Given the description of an element on the screen output the (x, y) to click on. 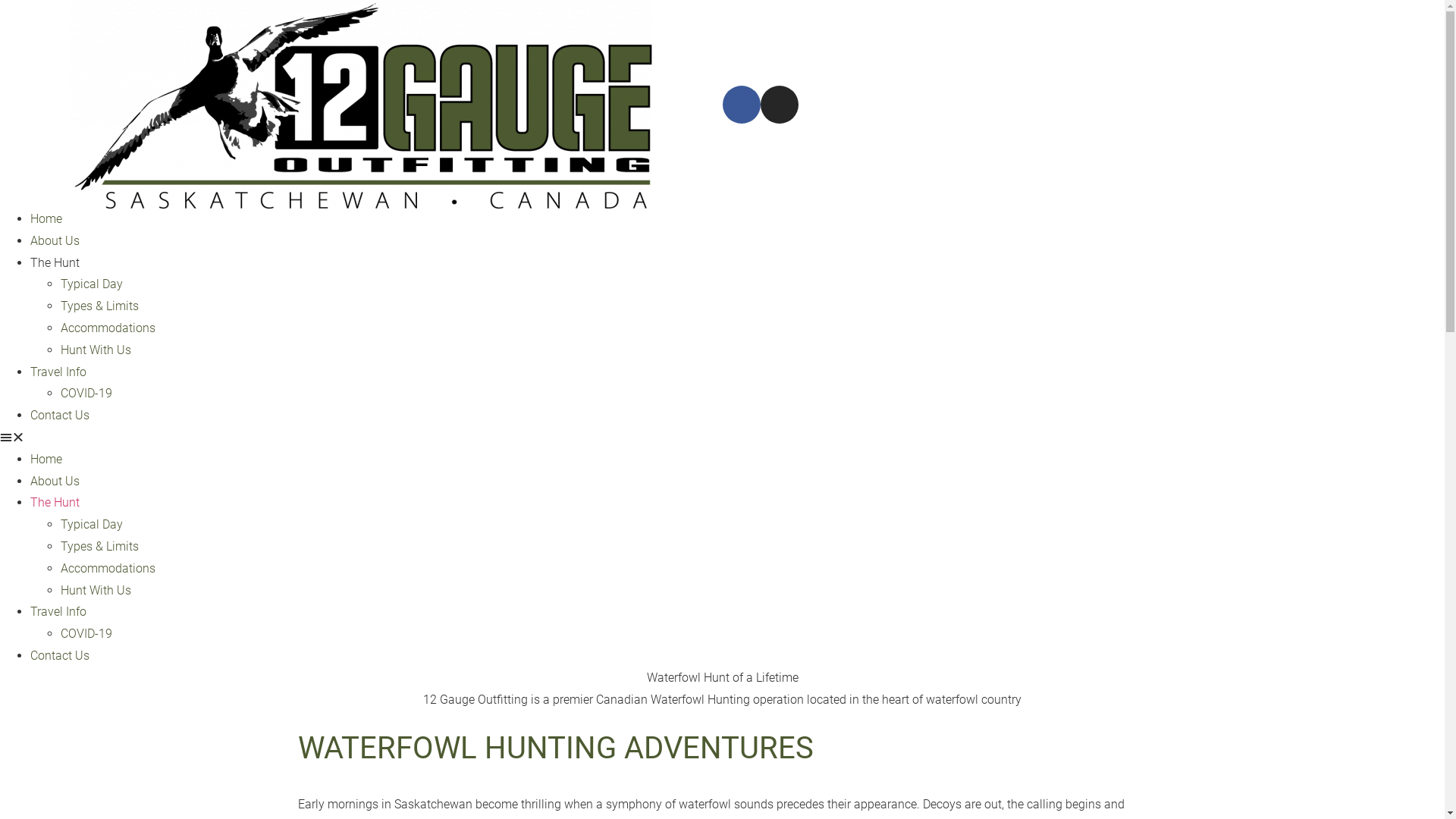
The Hunt Element type: text (54, 502)
Home Element type: text (46, 218)
Travel Info Element type: text (58, 611)
About Us Element type: text (54, 240)
Home Element type: text (46, 458)
Types & Limits Element type: text (99, 305)
COVID-19 Element type: text (86, 392)
Typical Day Element type: text (91, 524)
Hunt With Us Element type: text (95, 349)
Accommodations Element type: text (107, 327)
COVID-19 Element type: text (86, 633)
Contact Us Element type: text (59, 655)
Contact Us Element type: text (59, 414)
Accommodations Element type: text (107, 568)
Hunt With Us Element type: text (95, 590)
The Hunt Element type: text (54, 262)
About Us Element type: text (54, 480)
Travel Info Element type: text (58, 371)
Typical Day Element type: text (91, 283)
Types & Limits Element type: text (99, 546)
